Given the description of an element on the screen output the (x, y) to click on. 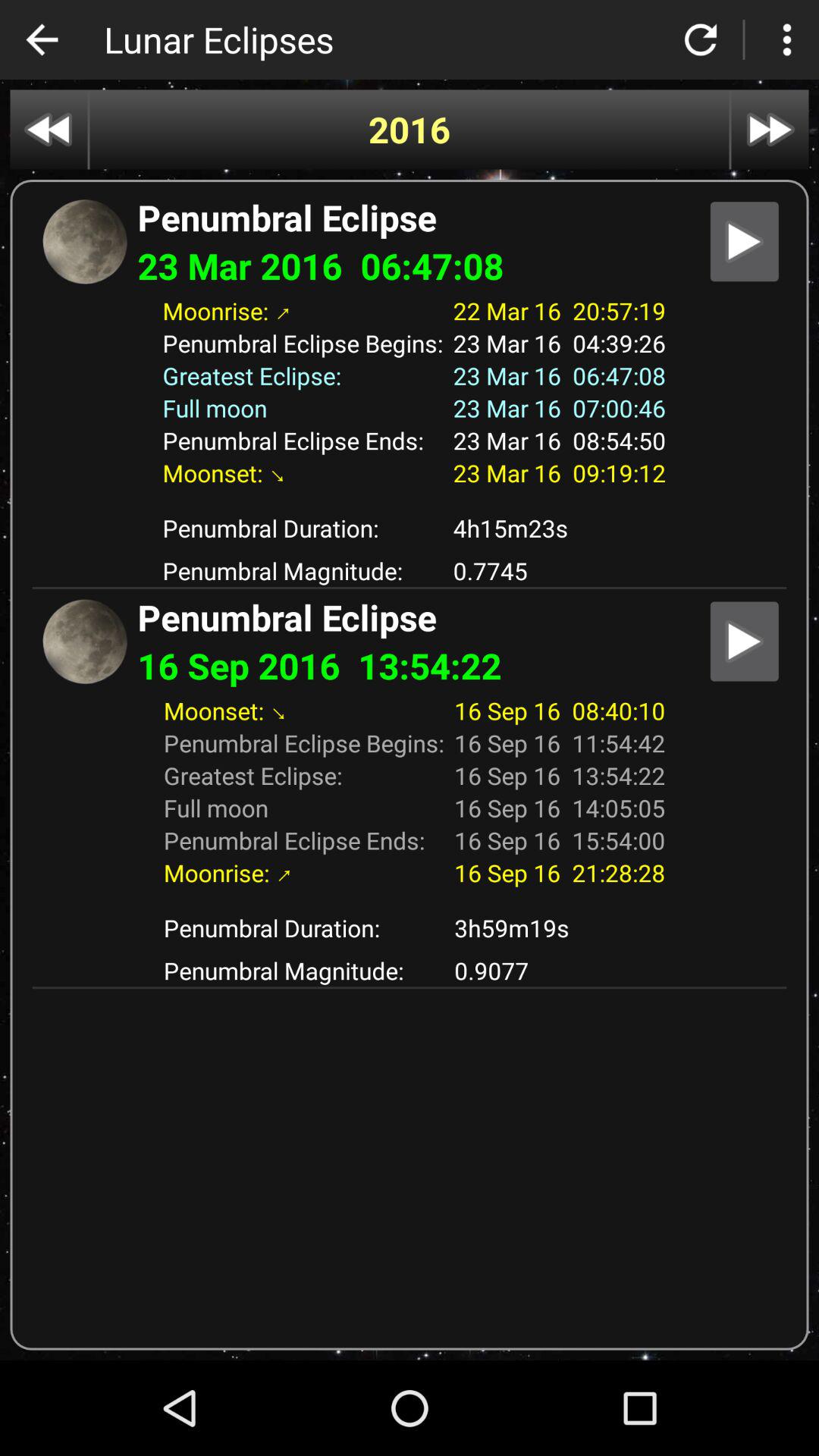
go back (48, 129)
